Given the description of an element on the screen output the (x, y) to click on. 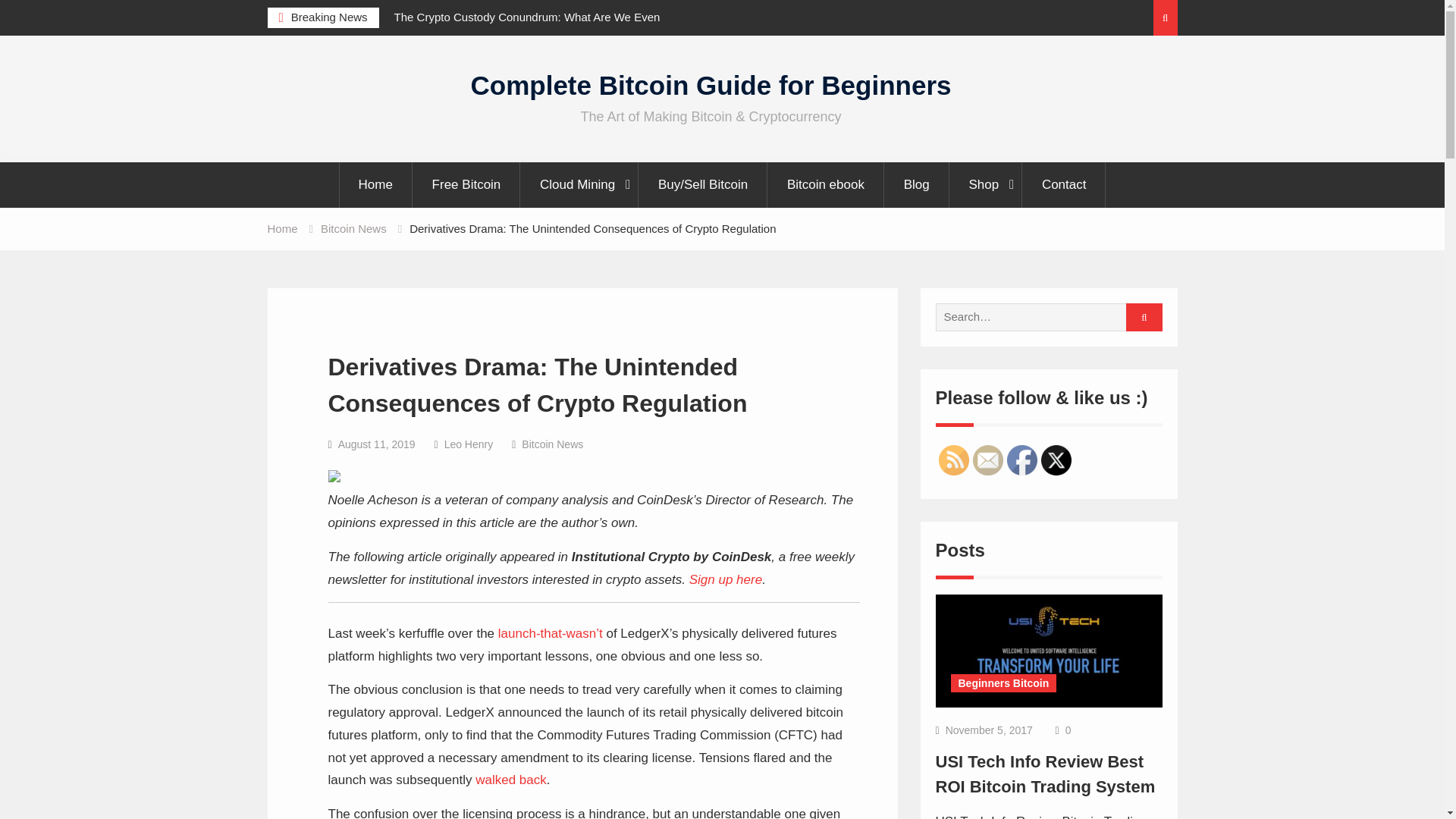
August 11, 2019 (375, 444)
Leo Henry (468, 444)
Cloud Mining (580, 185)
Bitcoin News (353, 227)
Twitter (1055, 460)
Shop (985, 185)
Complete Bitcoin Guide for Beginners (711, 84)
Bitcoin News (552, 444)
Follow by Email (987, 460)
